Given the description of an element on the screen output the (x, y) to click on. 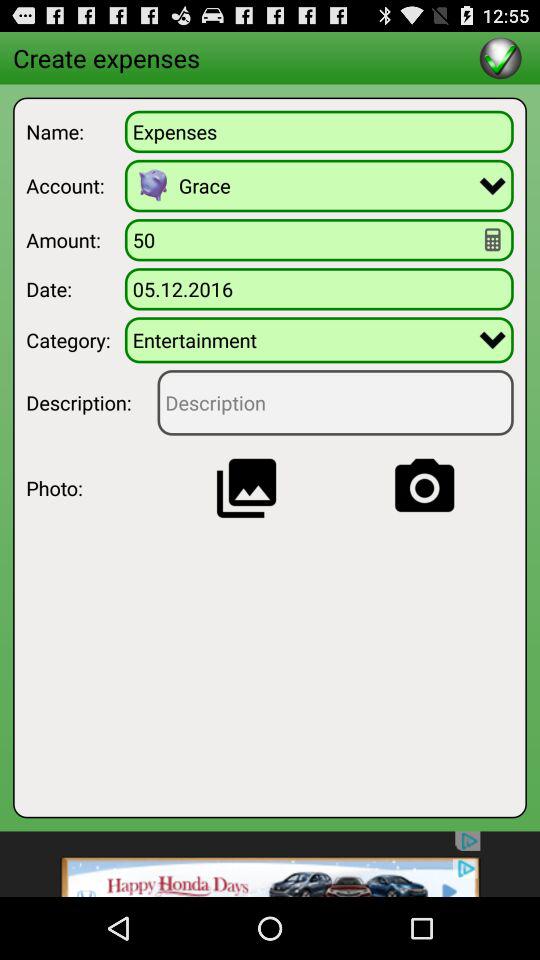
create (500, 57)
